Given the description of an element on the screen output the (x, y) to click on. 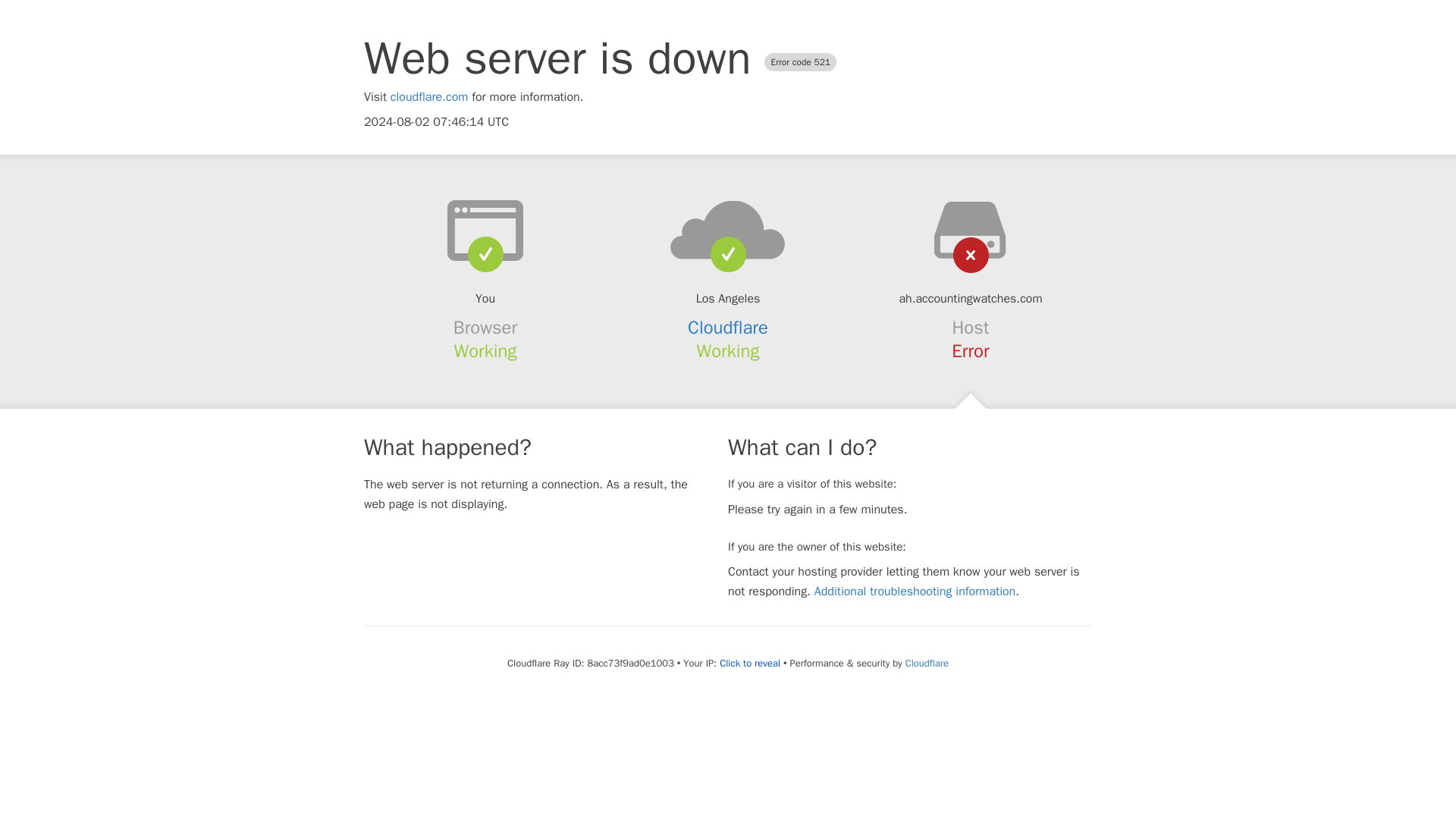
Additional troubleshooting information (913, 590)
cloudflare.com (429, 96)
Click to reveal (749, 663)
Cloudflare (727, 327)
Cloudflare (927, 662)
